Given the description of an element on the screen output the (x, y) to click on. 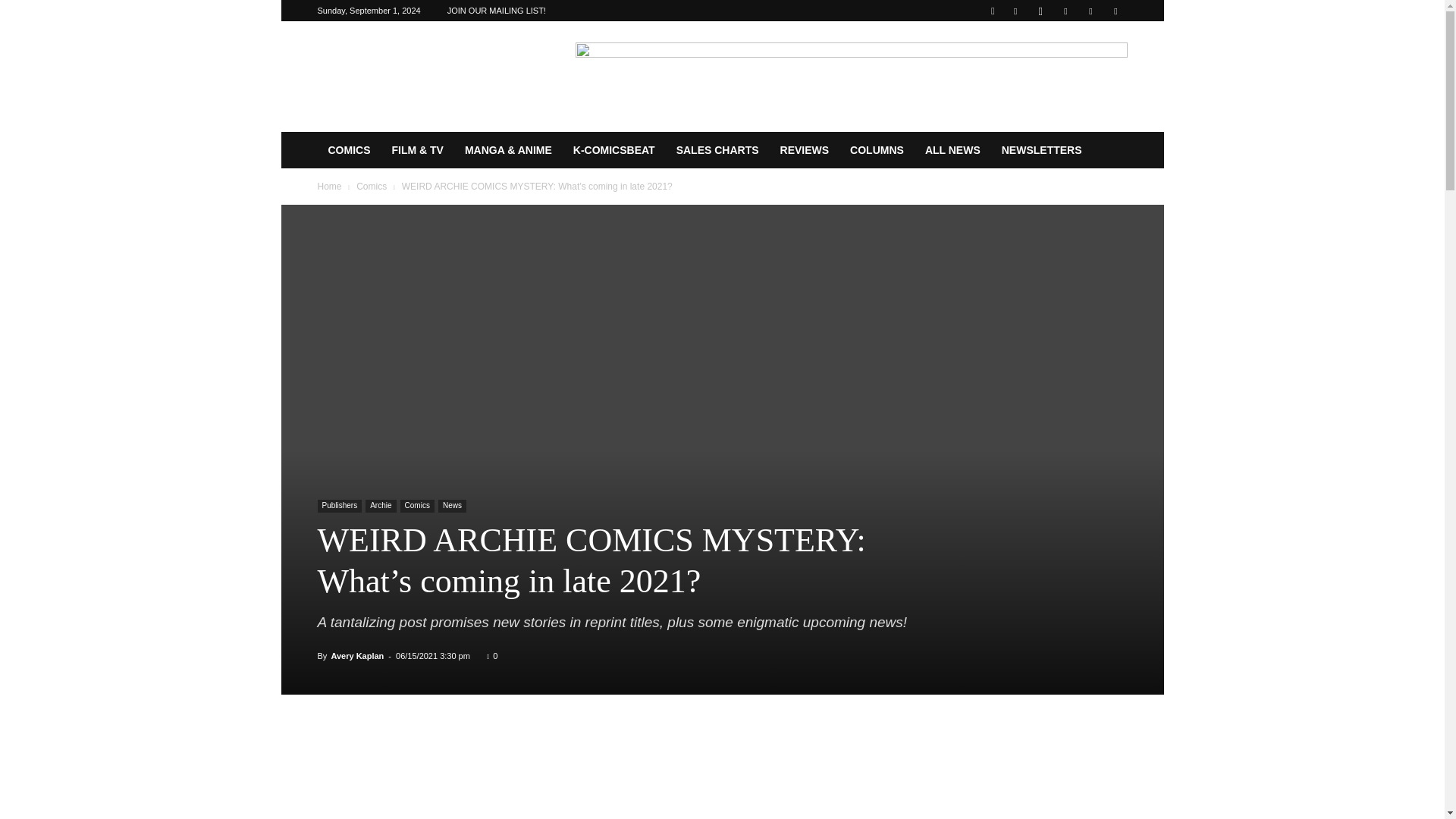
JOIN OUR MAILING LIST! (496, 10)
Search (1085, 64)
COMICS (348, 149)
Twitter (1090, 10)
SALES CHARTS (717, 149)
Instagram (1040, 10)
RSS (1065, 10)
Youtube (1114, 10)
View all posts in Comics (371, 185)
COLUMNS (877, 149)
